Given the description of an element on the screen output the (x, y) to click on. 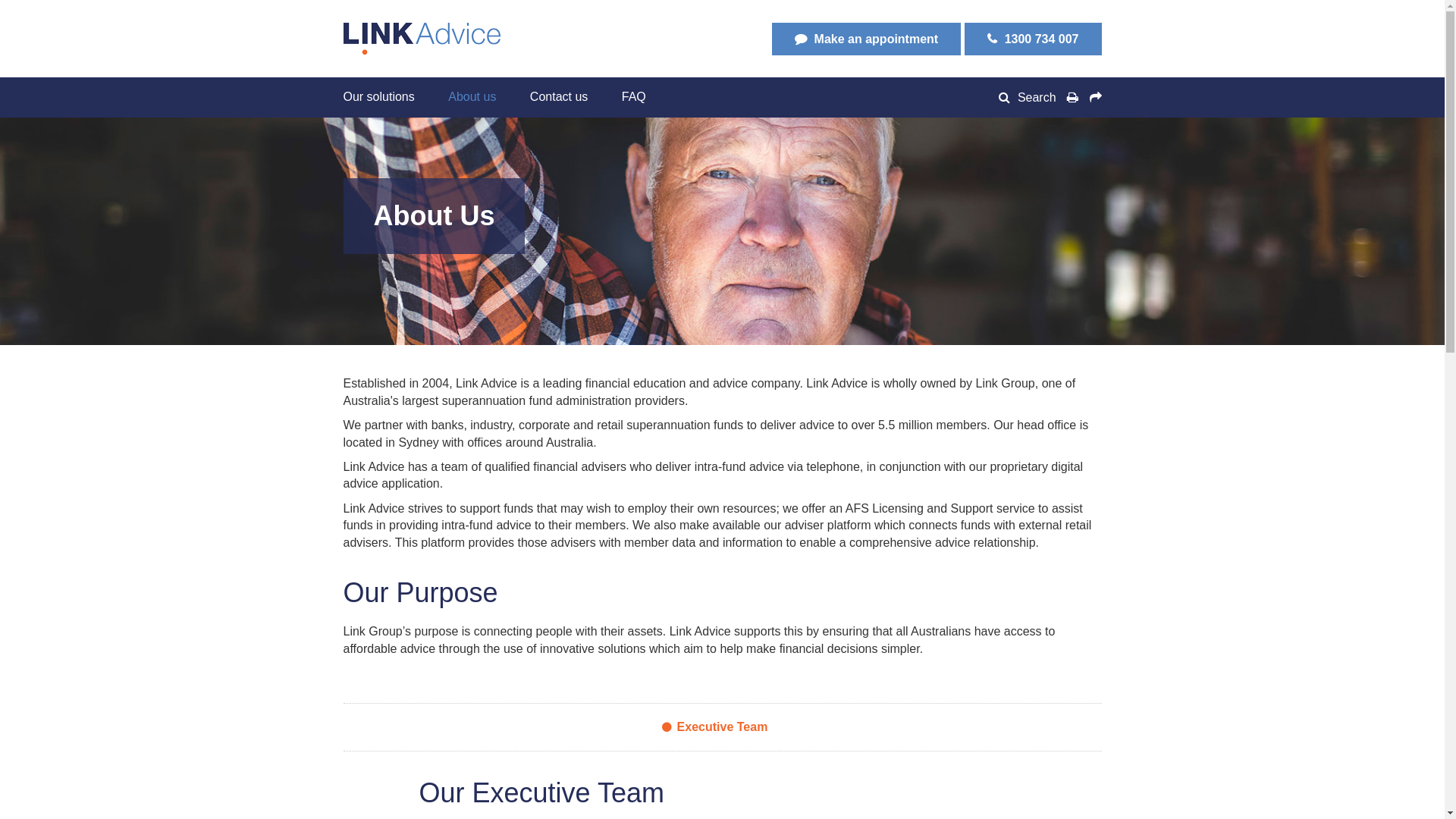
FAQ Element type: text (633, 96)
Print this page Element type: hover (1072, 97)
Make an appointment Element type: text (866, 38)
Search Element type: text (1029, 97)
Executive Team Element type: text (722, 726)
Contact us Element type: text (558, 96)
About us Element type: text (472, 96)
Our solutions Element type: text (385, 96)
1300 734 007 Element type: text (1032, 38)
Email this page Element type: hover (1093, 97)
